Given the description of an element on the screen output the (x, y) to click on. 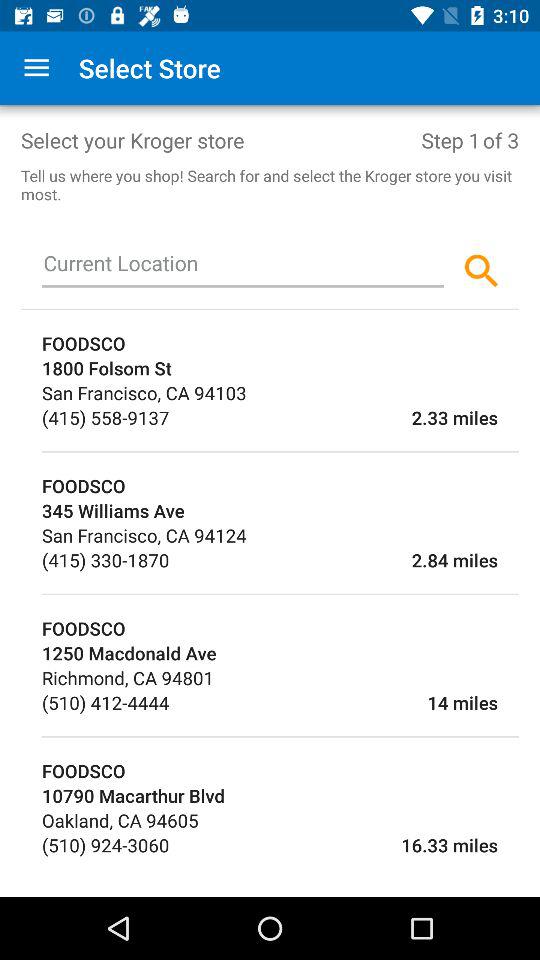
open item above the richmond, ca 94801 (280, 652)
